Given the description of an element on the screen output the (x, y) to click on. 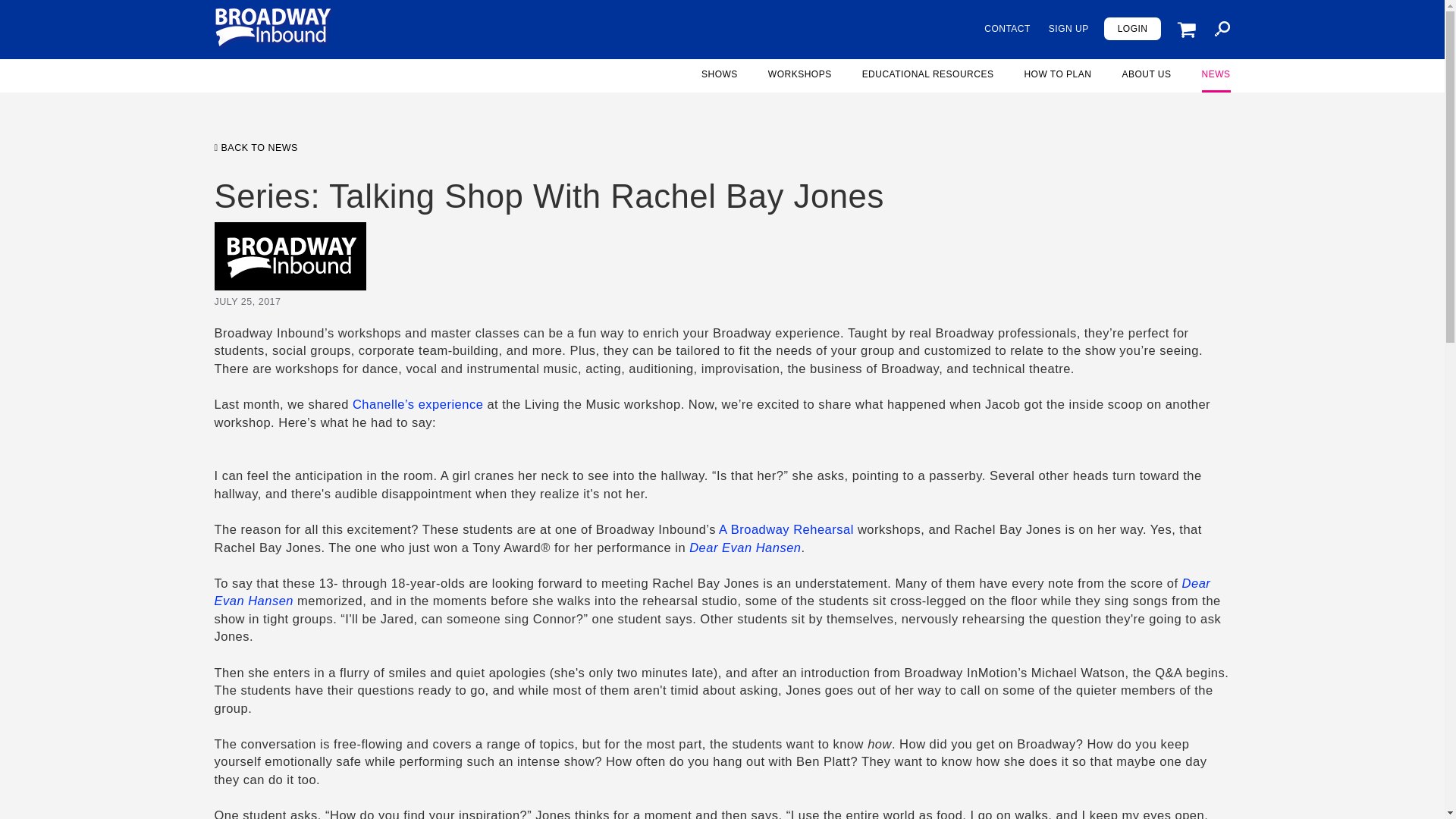
CONTACT (1007, 28)
LOGIN (1132, 27)
Dear Evan Hansen (744, 547)
SIGN UP (1068, 28)
NEWS (1216, 79)
EDUCATIONAL RESOURCES (927, 79)
SHOWS (719, 79)
ABOUT US (1145, 79)
A Broadway Rehearsal (786, 529)
